Given the description of an element on the screen output the (x, y) to click on. 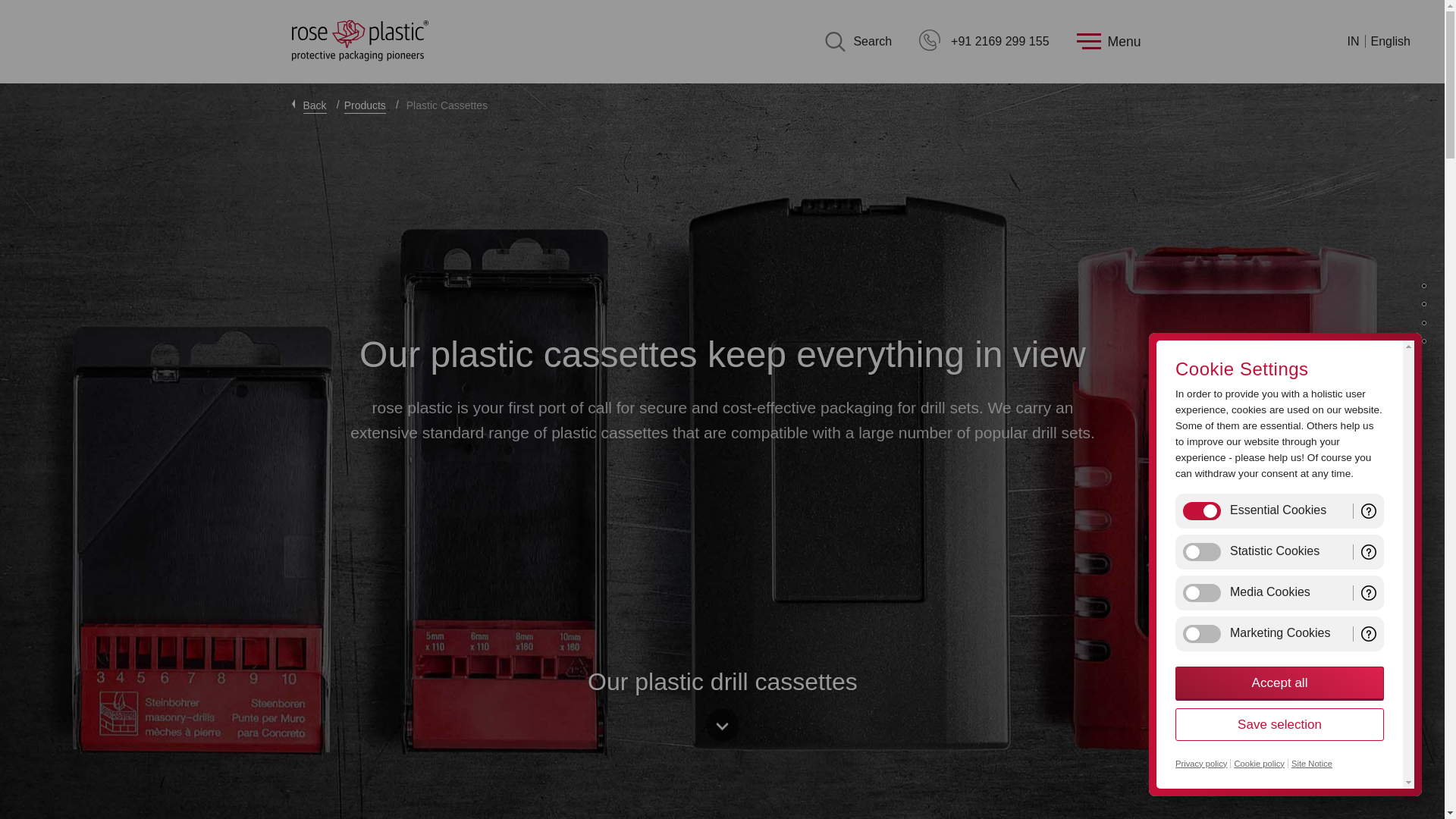
 to page: Products (364, 106)
Back to Home (359, 41)
